Given the description of an element on the screen output the (x, y) to click on. 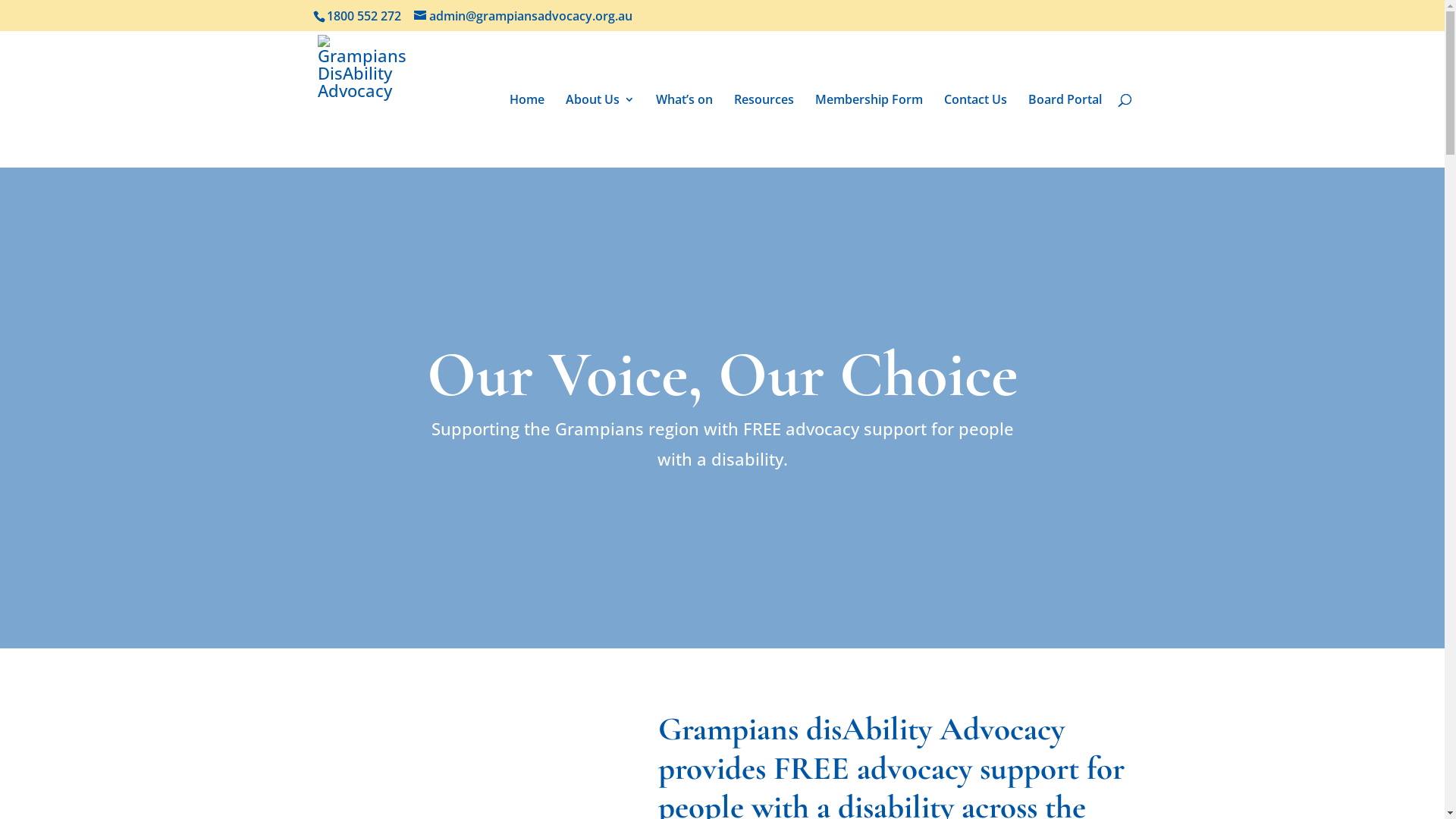
Membership Form Element type: text (868, 130)
Contact Us Element type: text (974, 130)
Board Portal Element type: text (1064, 130)
admin@grampiansadvocacy.org.au Element type: text (523, 15)
Resources Element type: text (763, 130)
About Us Element type: text (599, 130)
Home Element type: text (526, 130)
